Given the description of an element on the screen output the (x, y) to click on. 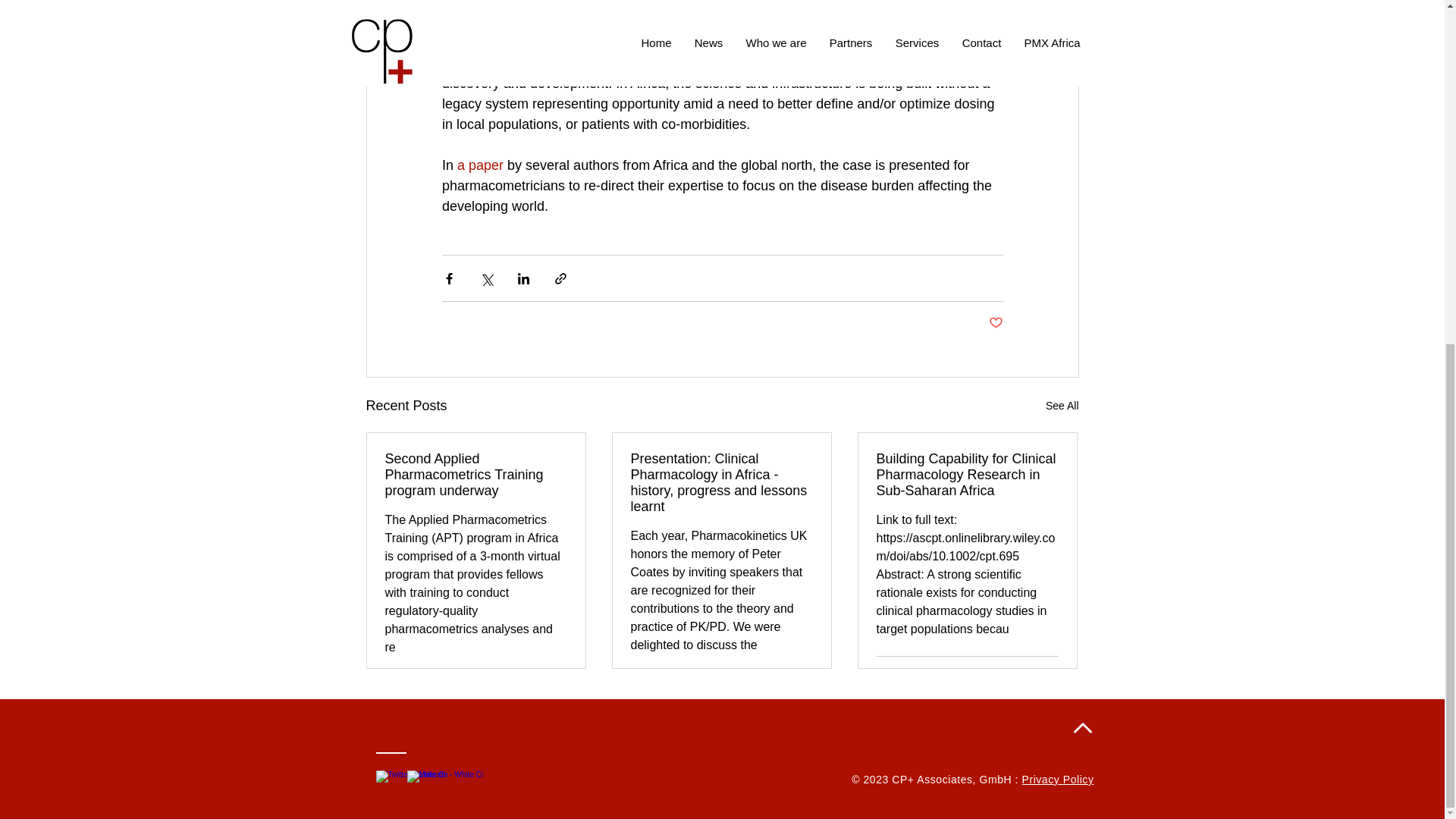
Post not marked as liked (995, 323)
See All (1061, 405)
Post not marked as liked (883, 675)
a paper (480, 165)
Second Applied Pharmacometrics Training program underway (476, 474)
Privacy Policy (1058, 779)
